Given the description of an element on the screen output the (x, y) to click on. 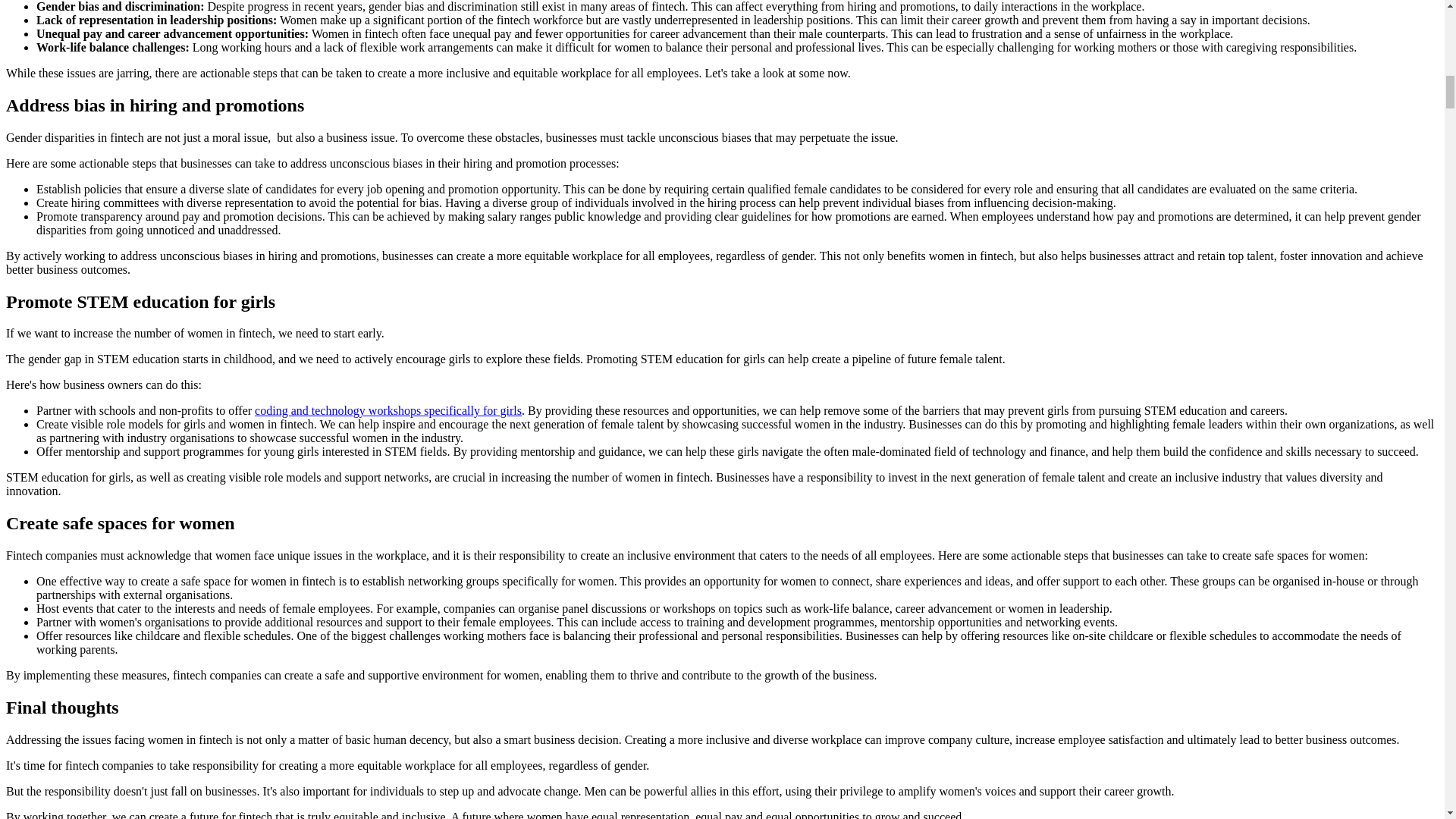
coding and technology workshops specifically for girls (387, 410)
